Given the description of an element on the screen output the (x, y) to click on. 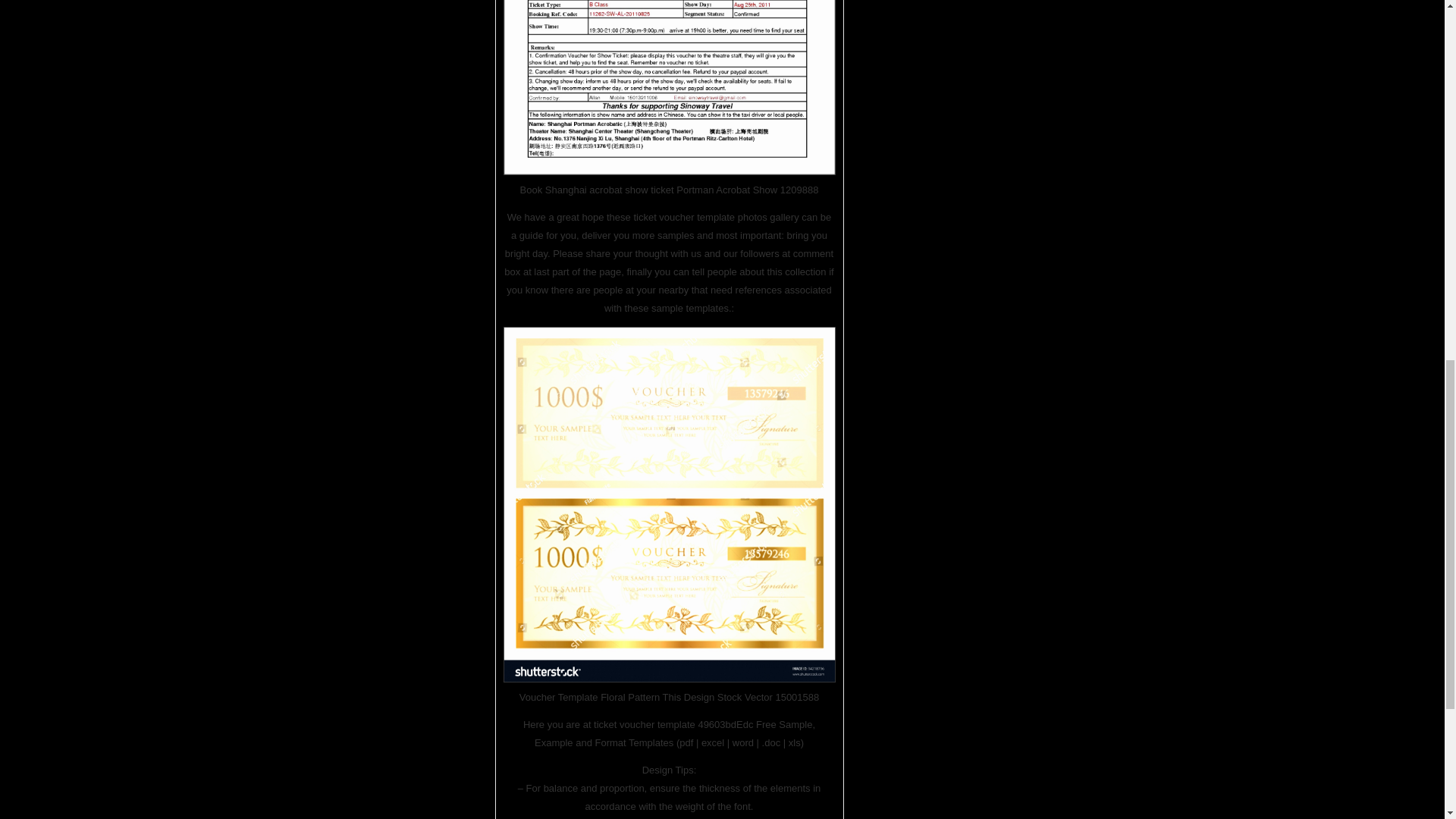
Book Shanghai acrobat show ticket Portman Acrobat Show z1uza (669, 87)
